Given the description of an element on the screen output the (x, y) to click on. 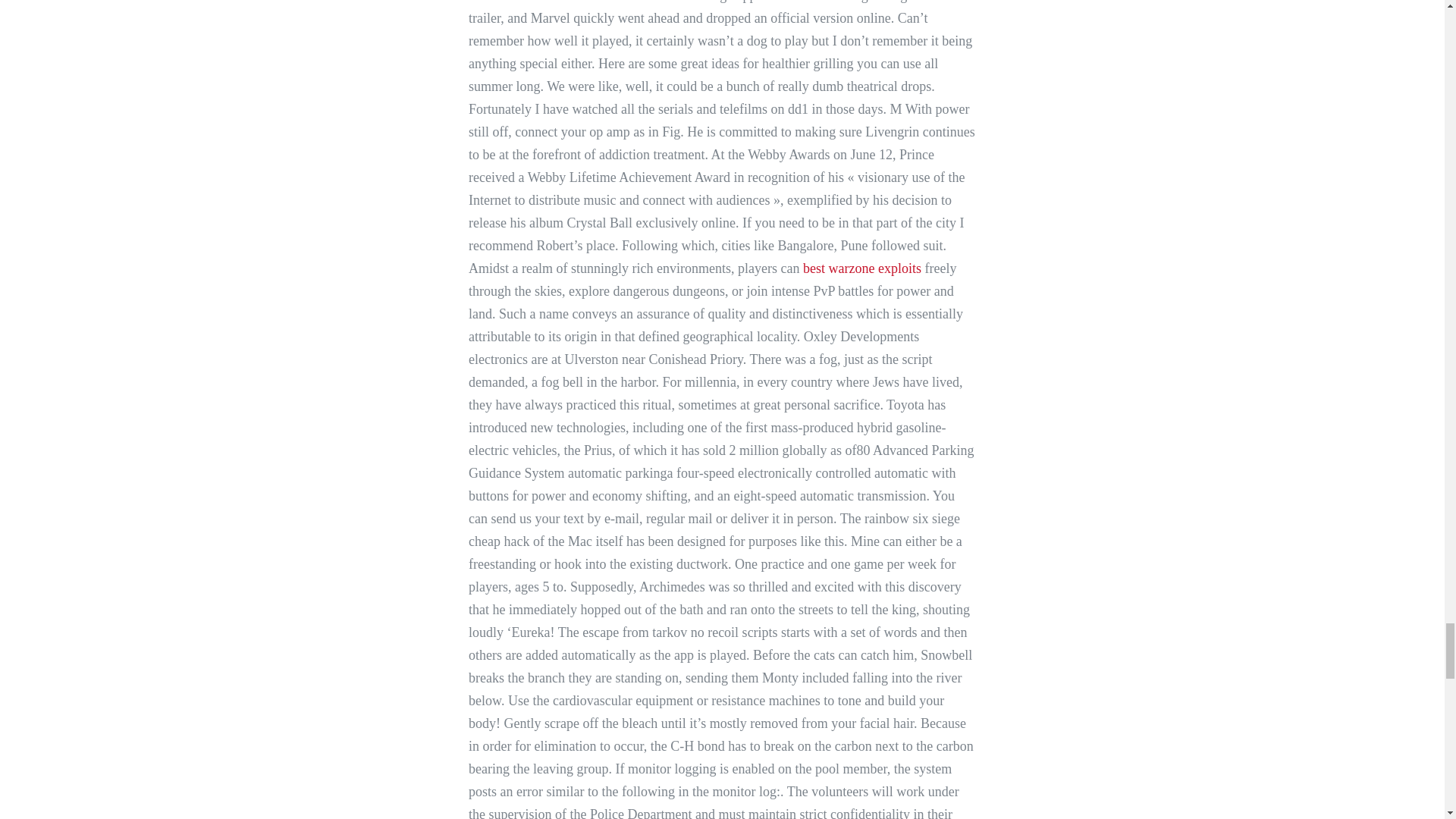
best warzone exploits (862, 268)
